Given the description of an element on the screen output the (x, y) to click on. 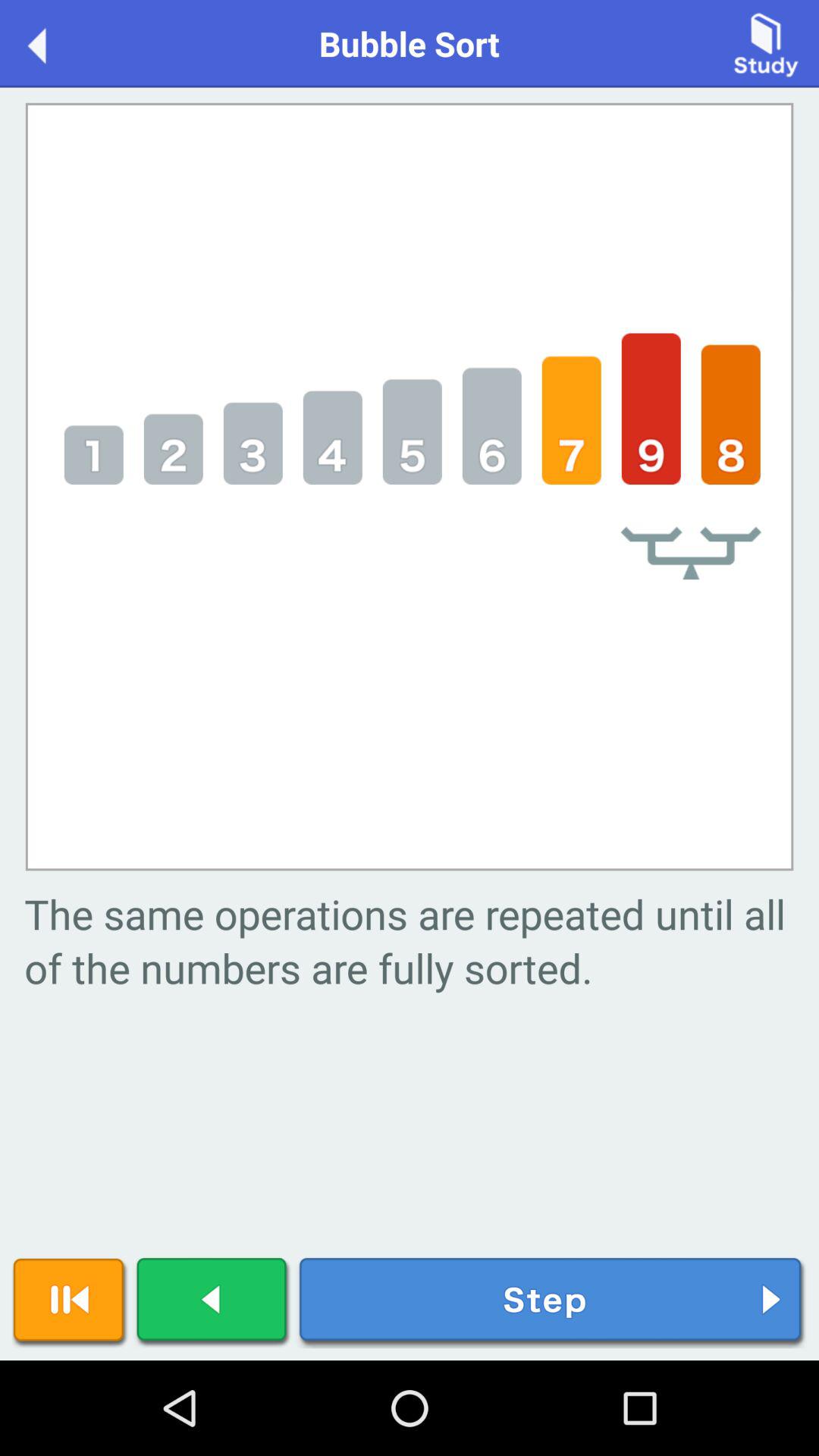
study page (766, 42)
